Given the description of an element on the screen output the (x, y) to click on. 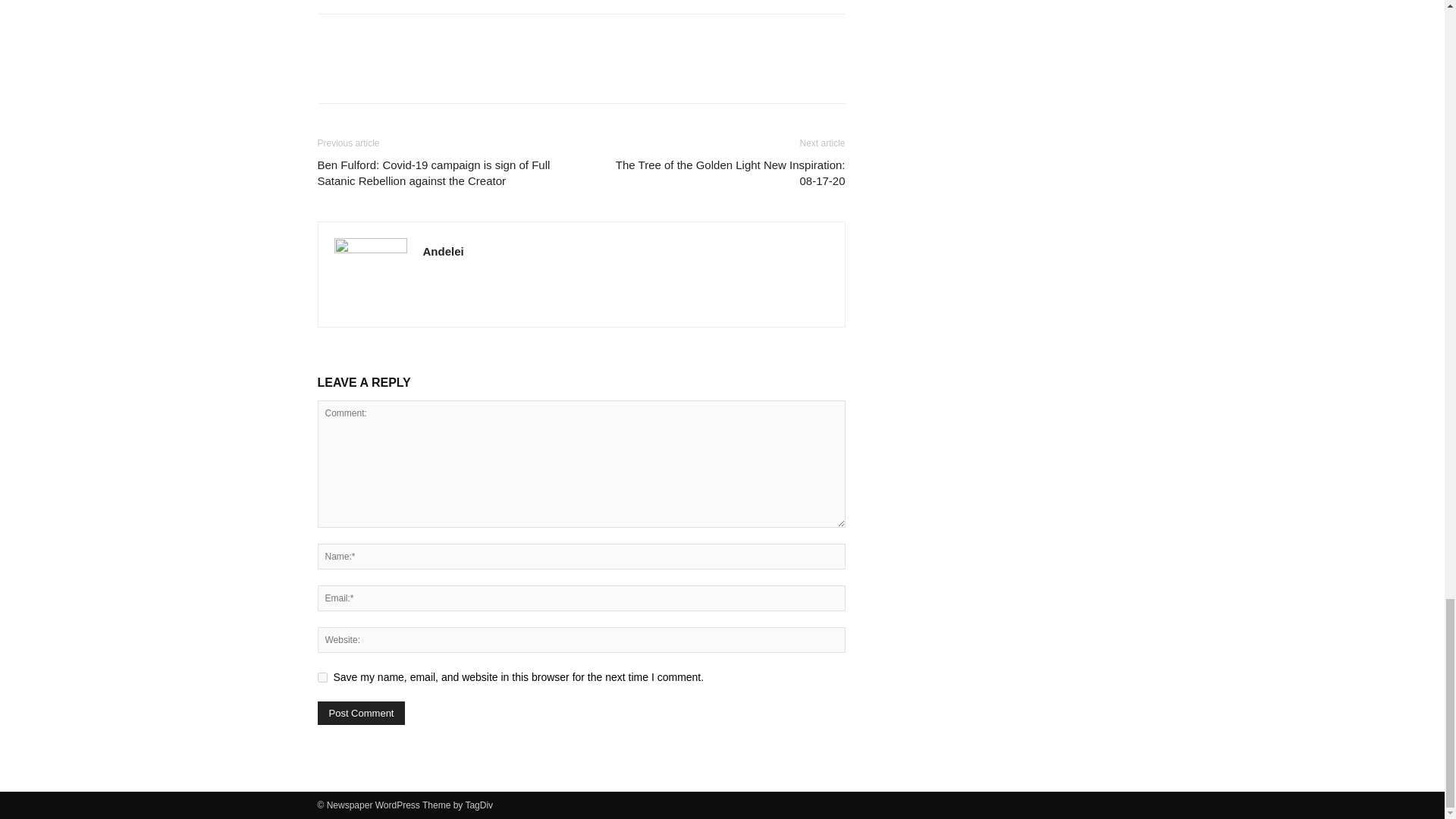
Post Comment (360, 712)
Post Comment (360, 712)
Andelei (443, 250)
yes (321, 677)
The Tree of the Golden Light New Inspiration: 08-17-20 (721, 173)
